Given the description of an element on the screen output the (x, y) to click on. 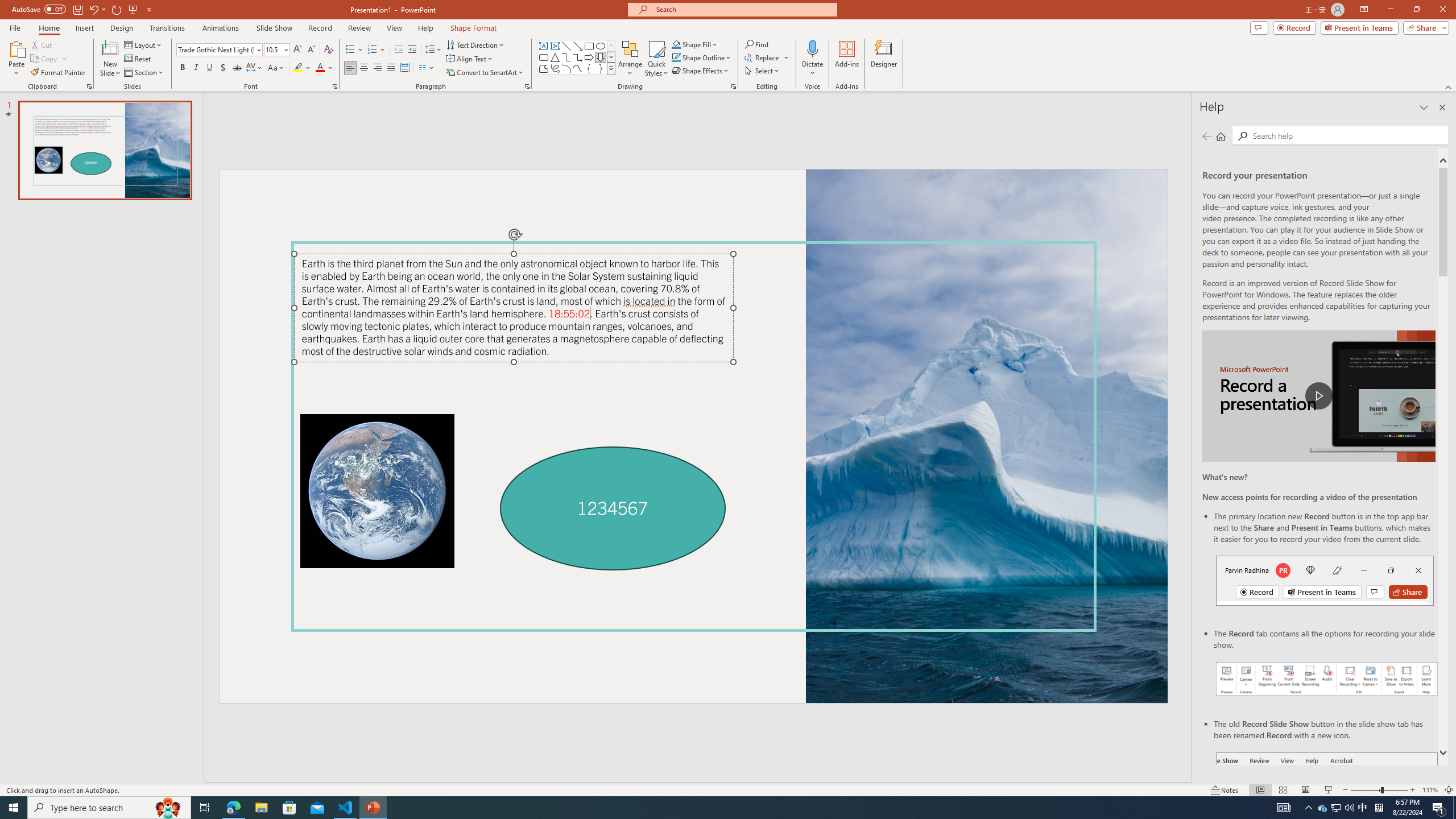
Record button in top bar (1324, 580)
